Given the description of an element on the screen output the (x, y) to click on. 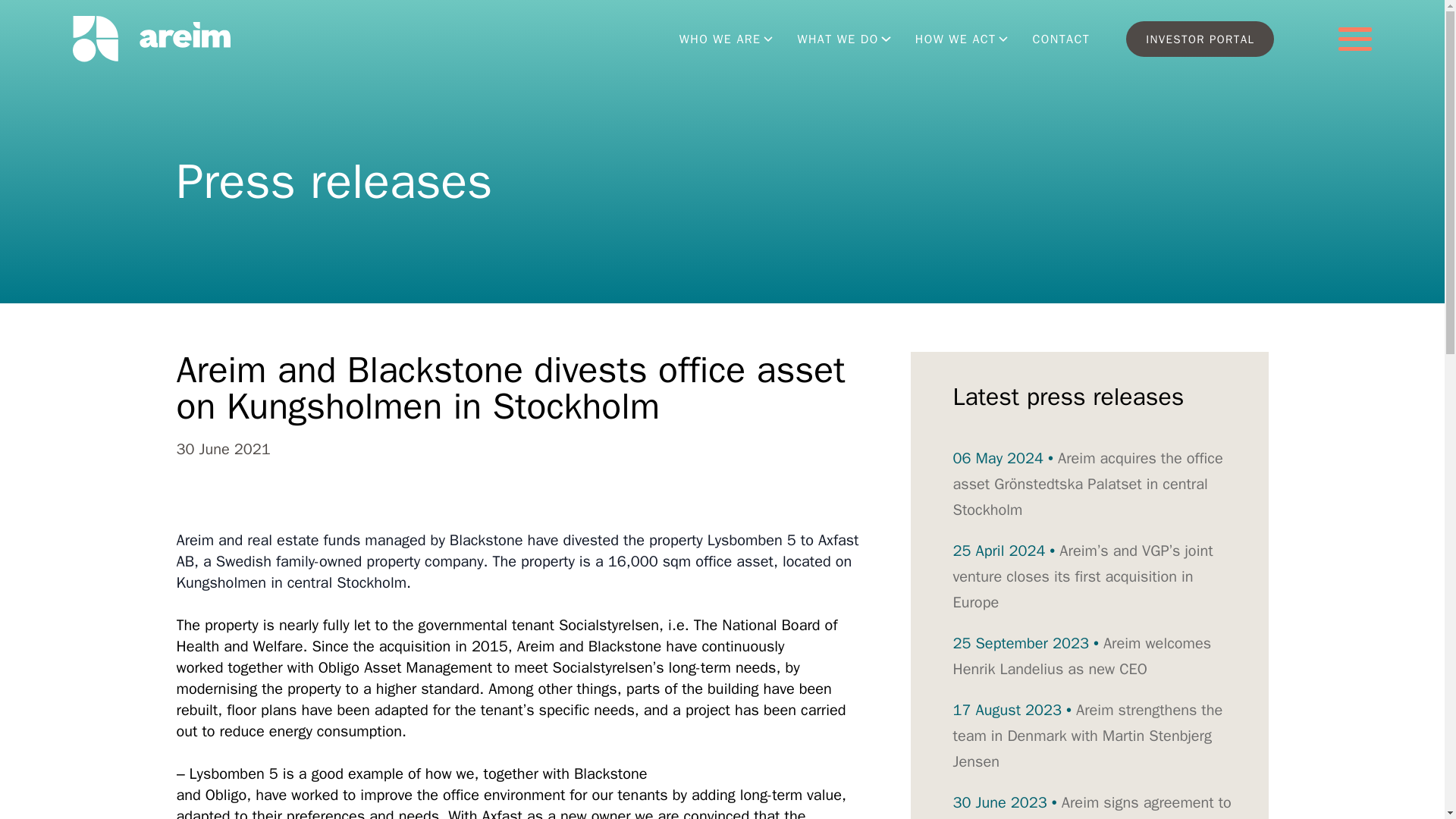
WHAT WE DO (843, 39)
CONTACT (1061, 39)
INVESTOR PORTAL (1199, 38)
WHO WE ARE (726, 39)
HOW WE ACT (961, 39)
